Given the description of an element on the screen output the (x, y) to click on. 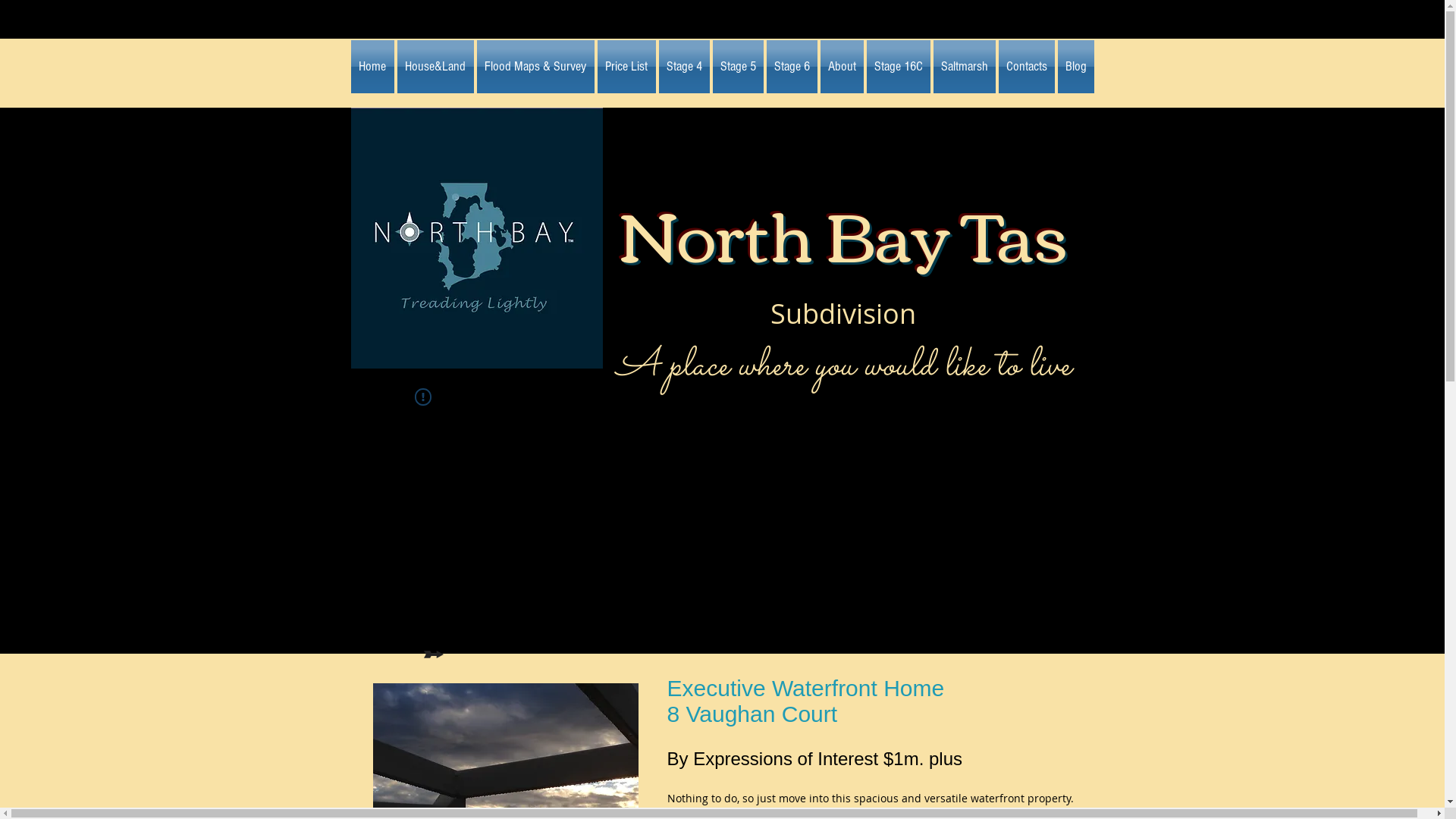
Stage 5 Element type: text (738, 66)
Stage 16C Element type: text (897, 66)
Blog Element type: text (1074, 66)
Site Search Element type: hover (946, 422)
Stage 4 Element type: text (683, 66)
Price List Element type: text (626, 66)
Home Element type: text (372, 66)
Saltmarsh Element type: text (963, 66)
Contacts Element type: text (1025, 66)
About Element type: text (842, 66)
Flood Maps & Survey Element type: text (534, 66)
House&Land Element type: text (435, 66)
Stage 6 Element type: text (791, 66)
